Given the description of an element on the screen output the (x, y) to click on. 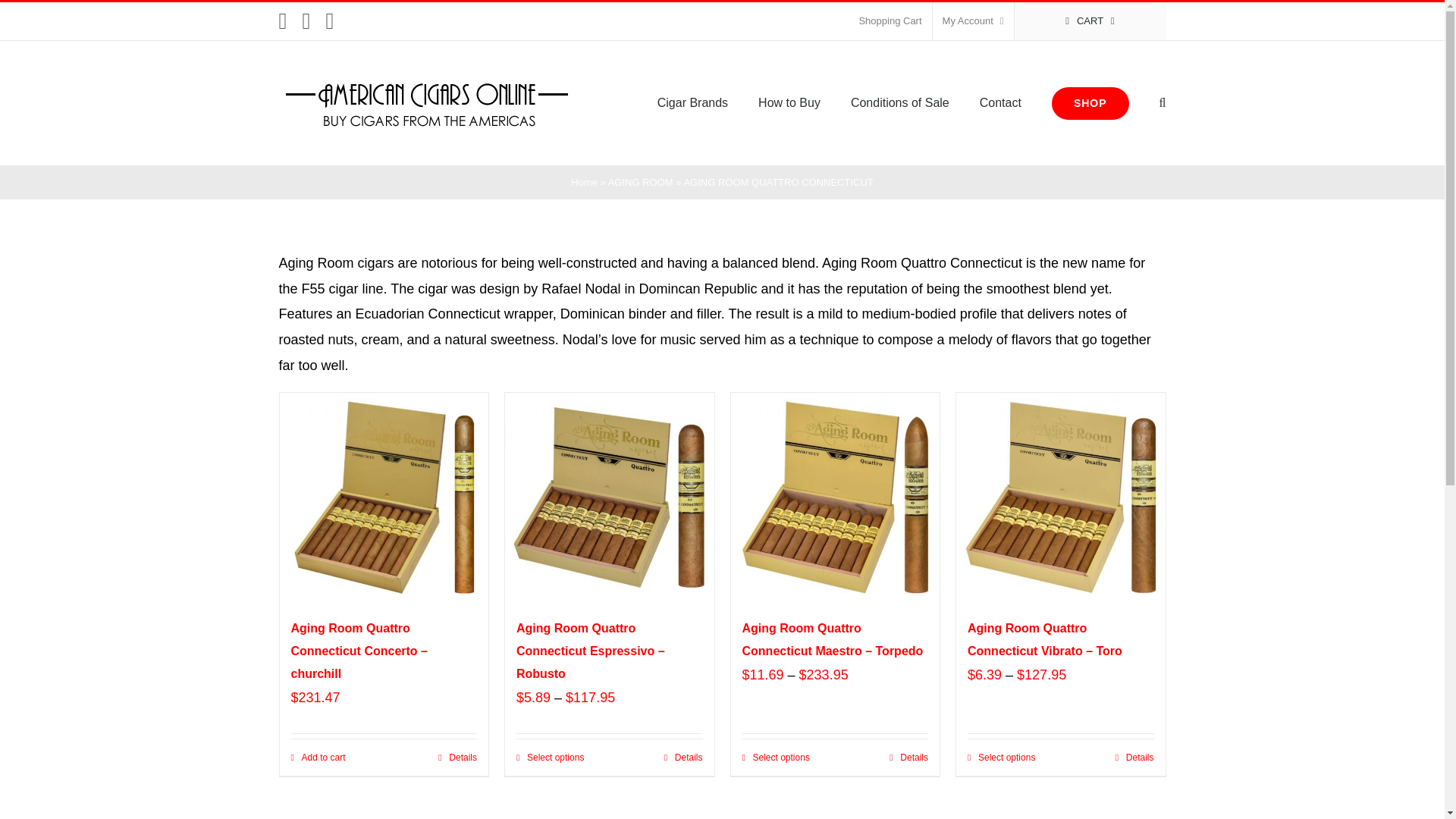
Select options (549, 757)
Shopping Cart (889, 21)
AGING ROOM (640, 182)
My Account (973, 21)
Select options (775, 757)
Details (908, 757)
Details (457, 757)
Details (683, 757)
Home (583, 182)
CART (1090, 21)
Log In (1034, 165)
Add to cart (318, 757)
